Given the description of an element on the screen output the (x, y) to click on. 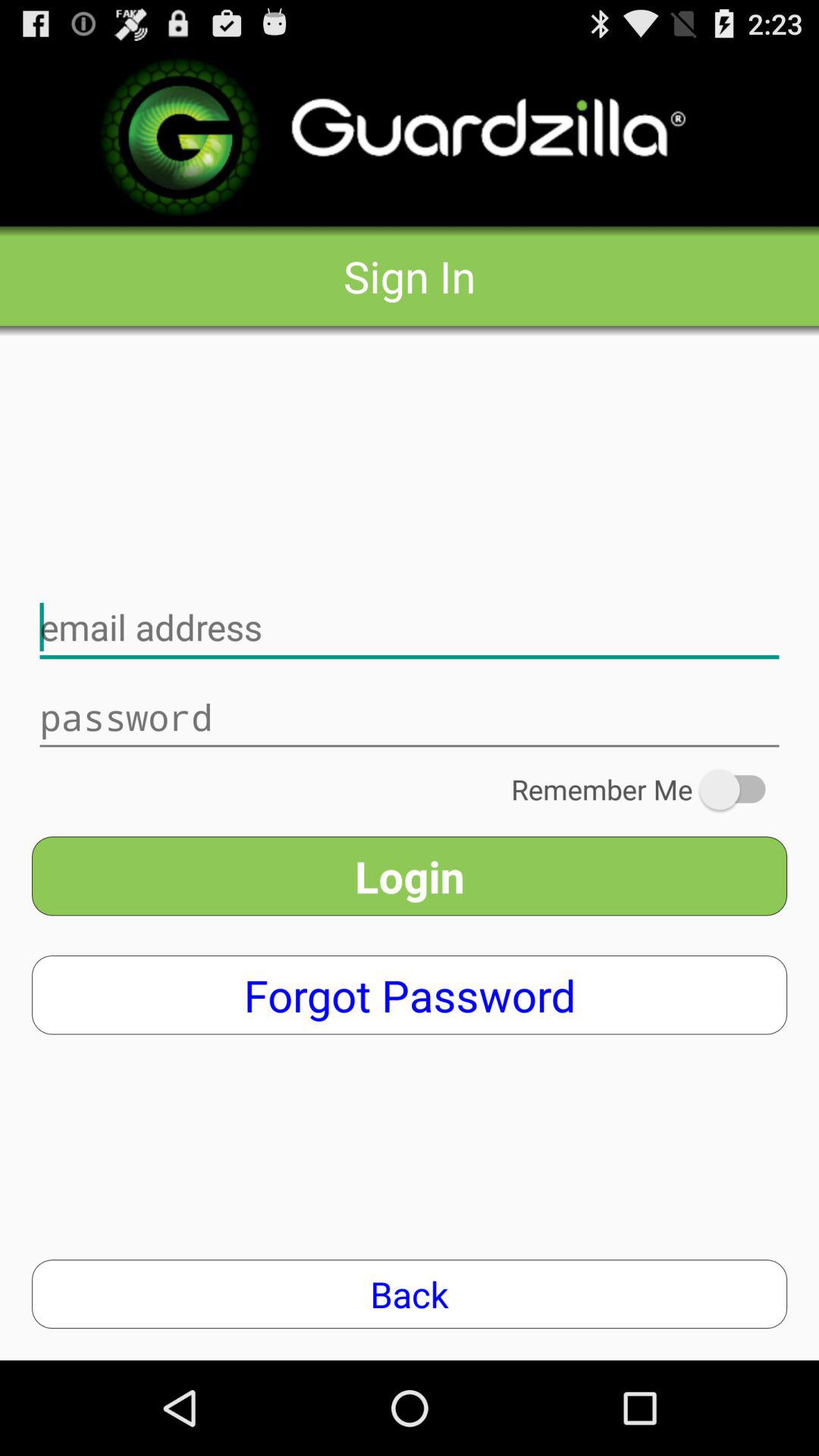
go to password (409, 717)
